Given the description of an element on the screen output the (x, y) to click on. 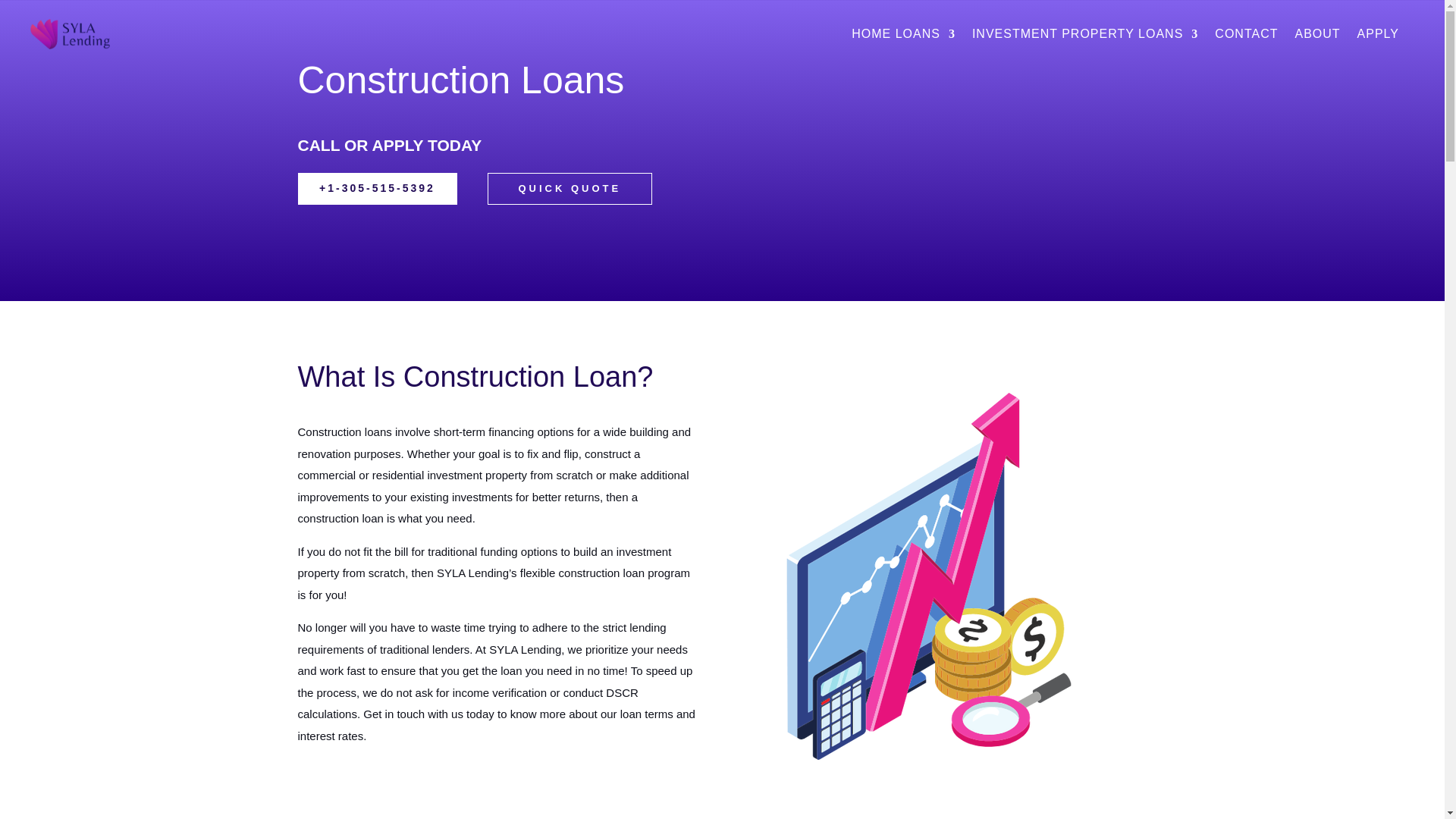
syla-lending-logo-tr-rec (70, 33)
INVESTMENT PROPERTY LOANS (1085, 36)
HOME LOANS (903, 36)
CONTACT (1246, 36)
ABOUT (1316, 36)
APPLY (1377, 36)
